Given the description of an element on the screen output the (x, y) to click on. 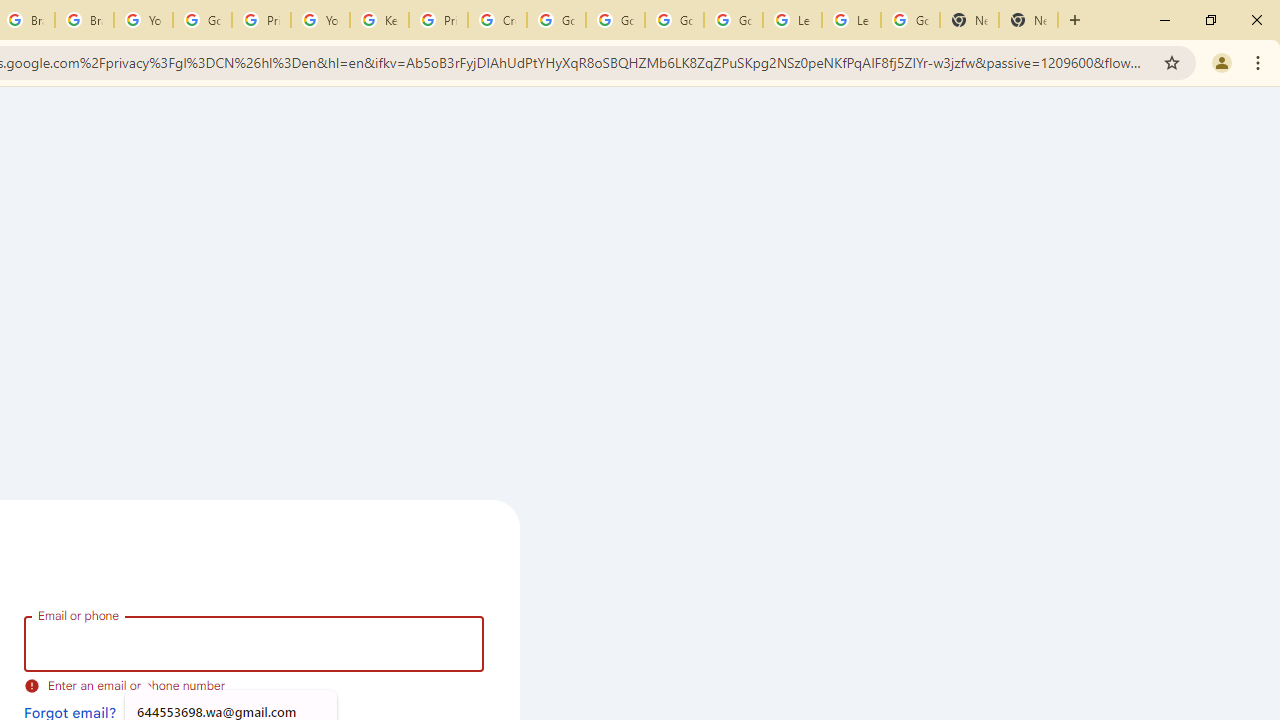
Google Account (909, 20)
Google Account Help (733, 20)
Email or phone (253, 643)
New Tab (969, 20)
Google Account Help (556, 20)
